Given the description of an element on the screen output the (x, y) to click on. 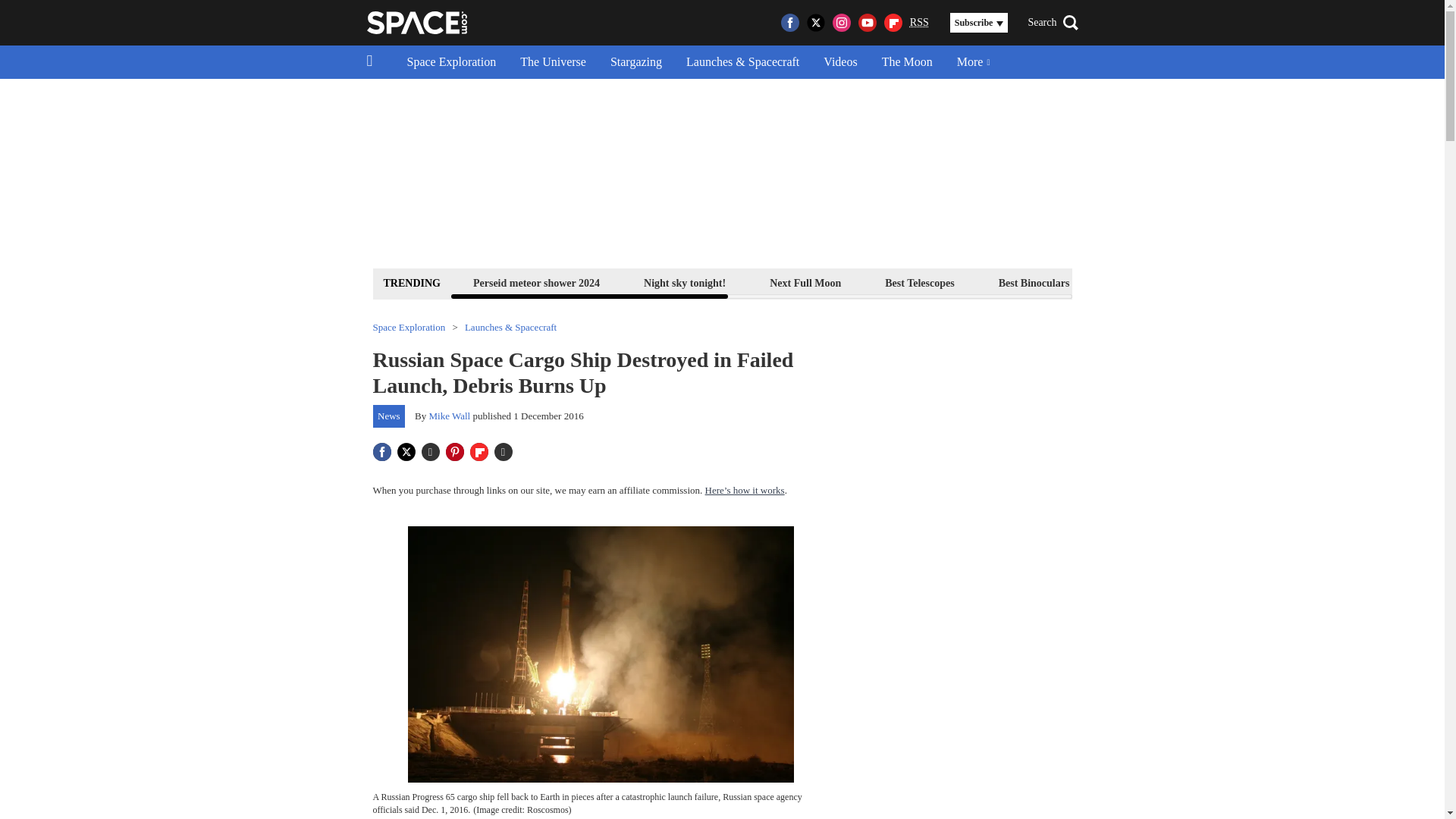
RSS (919, 22)
Night sky tonight! (684, 282)
The Moon (906, 61)
Really Simple Syndication (919, 21)
Space Exploration (451, 61)
Best Binoculars (1033, 282)
Space Calendar (1283, 282)
Best Star Projectors (1158, 282)
Best Telescopes (919, 282)
The Universe (553, 61)
